Given the description of an element on the screen output the (x, y) to click on. 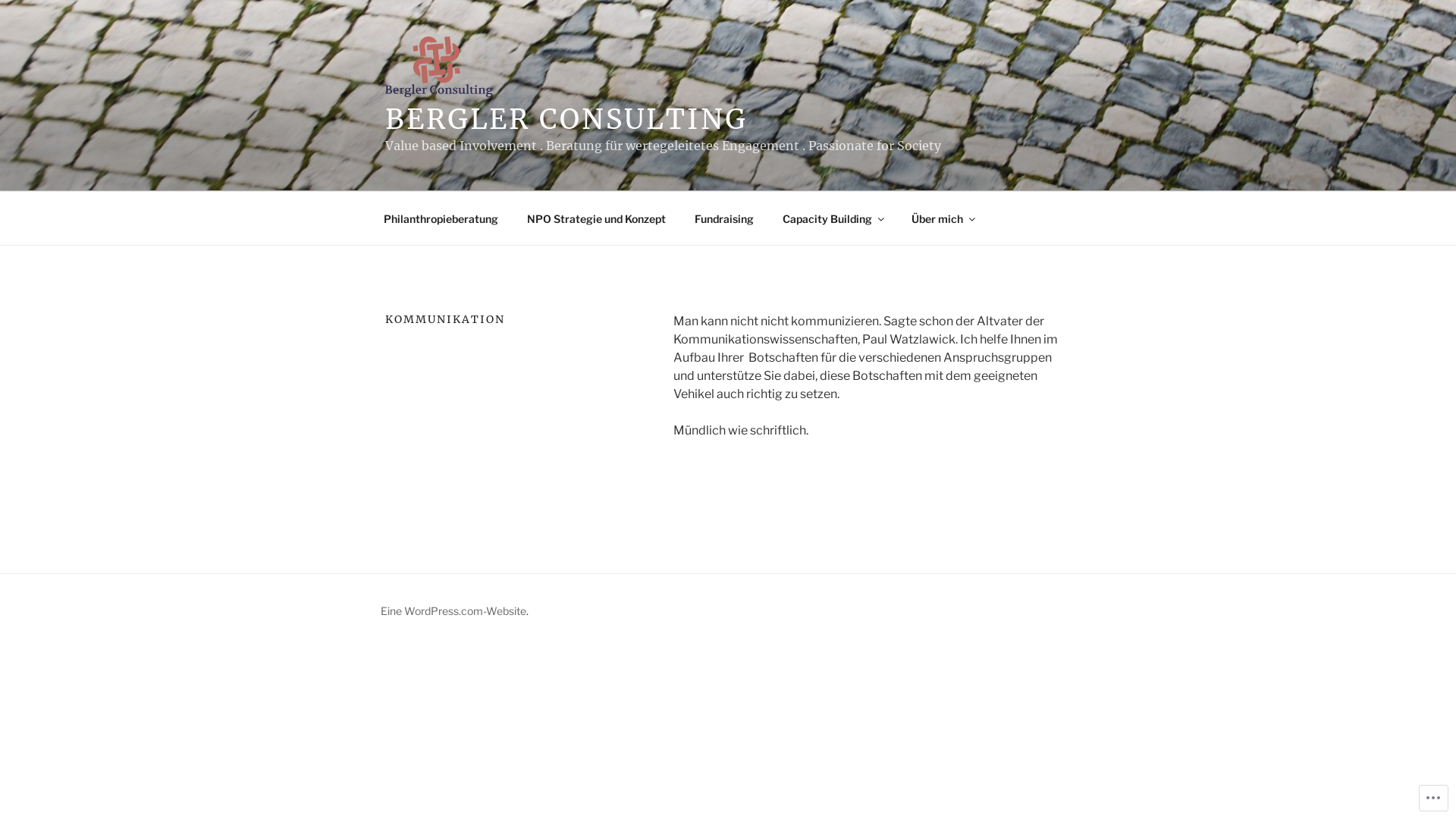
BERGLER CONSULTING Element type: text (566, 119)
NPO Strategie und Konzept Element type: text (595, 218)
Liken oder rebloggen Element type: hover (871, 484)
Eine WordPress.com-Website Element type: text (453, 610)
Fundraising Element type: text (723, 218)
Capacity Building Element type: text (831, 218)
Philanthropieberatung Element type: text (440, 218)
